Given the description of an element on the screen output the (x, y) to click on. 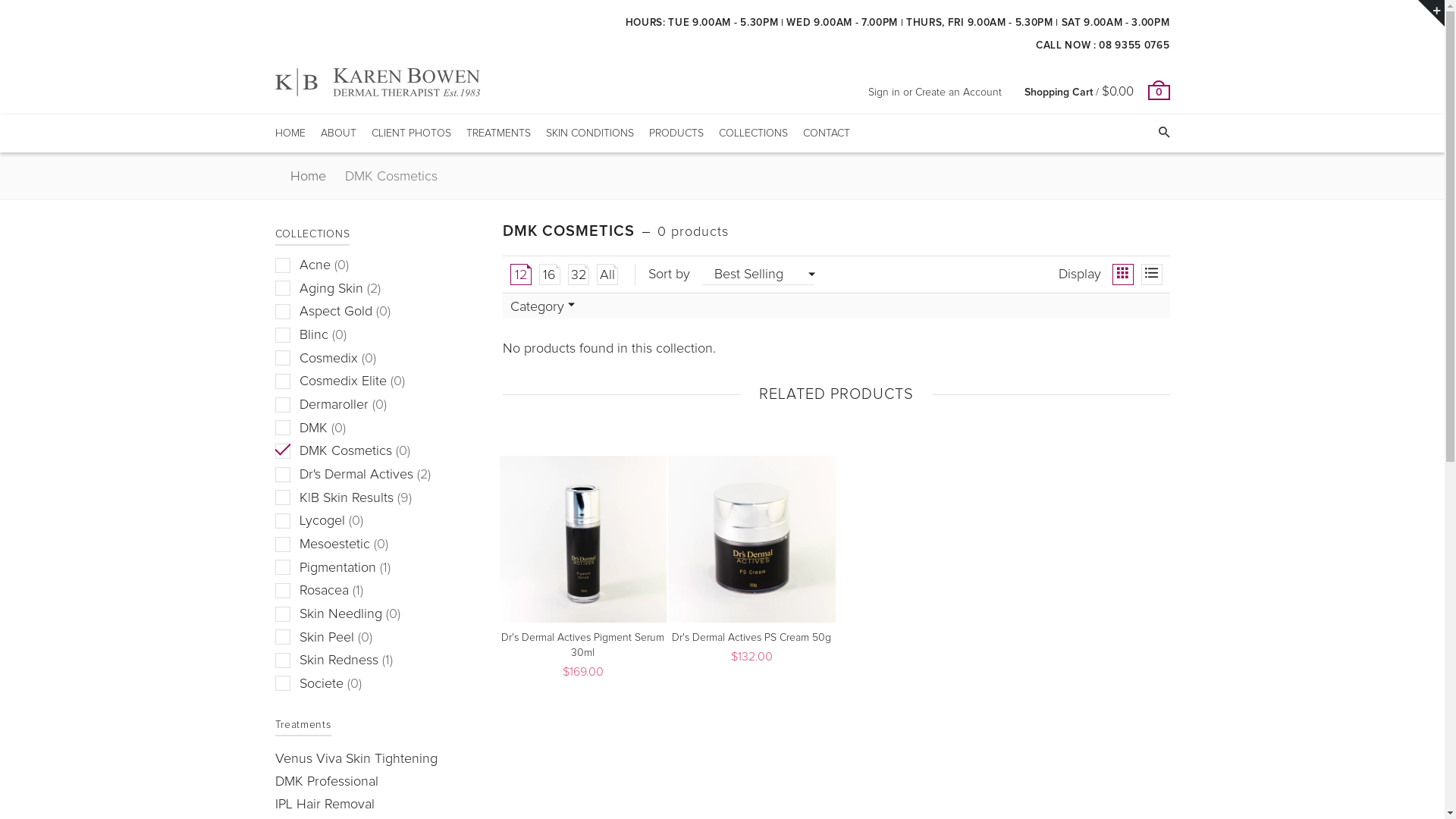
Dr's Dermal Actives PS Cream 50g Element type: text (751, 637)
Home Element type: text (309, 176)
COLLECTIONS Element type: text (752, 133)
CLIENT PHOTOS Element type: text (411, 133)
Karen Bowen Dermal Therapist Element type: hover (376, 82)
Grid Element type: hover (1121, 274)
IPL Hair Removal Element type: text (323, 804)
CONTACT Element type: text (825, 133)
Venus Viva Skin Tightening Element type: text (355, 758)
HOME Element type: text (289, 133)
DMK Professional Element type: text (325, 781)
PRODUCTS Element type: text (676, 133)
CALL NOW : 08 9355 0765 Element type: text (1102, 45)
TREATMENTS Element type: text (497, 133)
SKIN CONDITIONS Element type: text (589, 133)
Shopping Cart / $0.00 0 Element type: text (1096, 92)
Sign in or Create an Account Element type: text (934, 92)
Dr's Dermal Actives Pigment Serum 30ml Element type: text (582, 645)
ABOUT Element type: text (337, 133)
List Element type: hover (1150, 274)
